Given the description of an element on the screen output the (x, y) to click on. 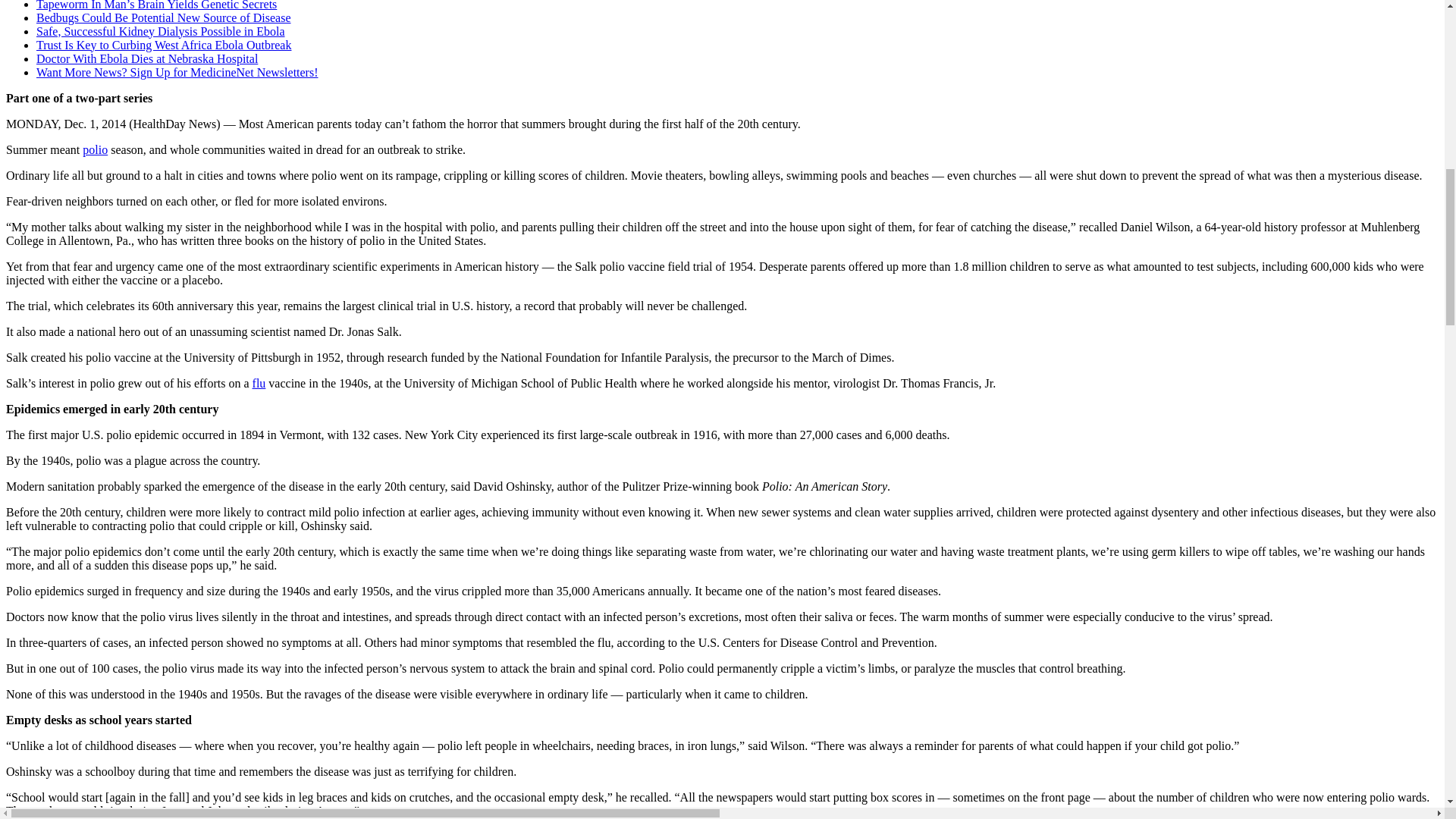
Safe, Successful Kidney Dialysis Possible in Ebola (160, 31)
Doctor With Ebola Dies at Nebraska Hospital (146, 58)
Trust Is Key to Curbing West Africa Ebola Outbreak (163, 44)
Bedbugs Could Be Potential New Source of Disease (163, 17)
